Given the description of an element on the screen output the (x, y) to click on. 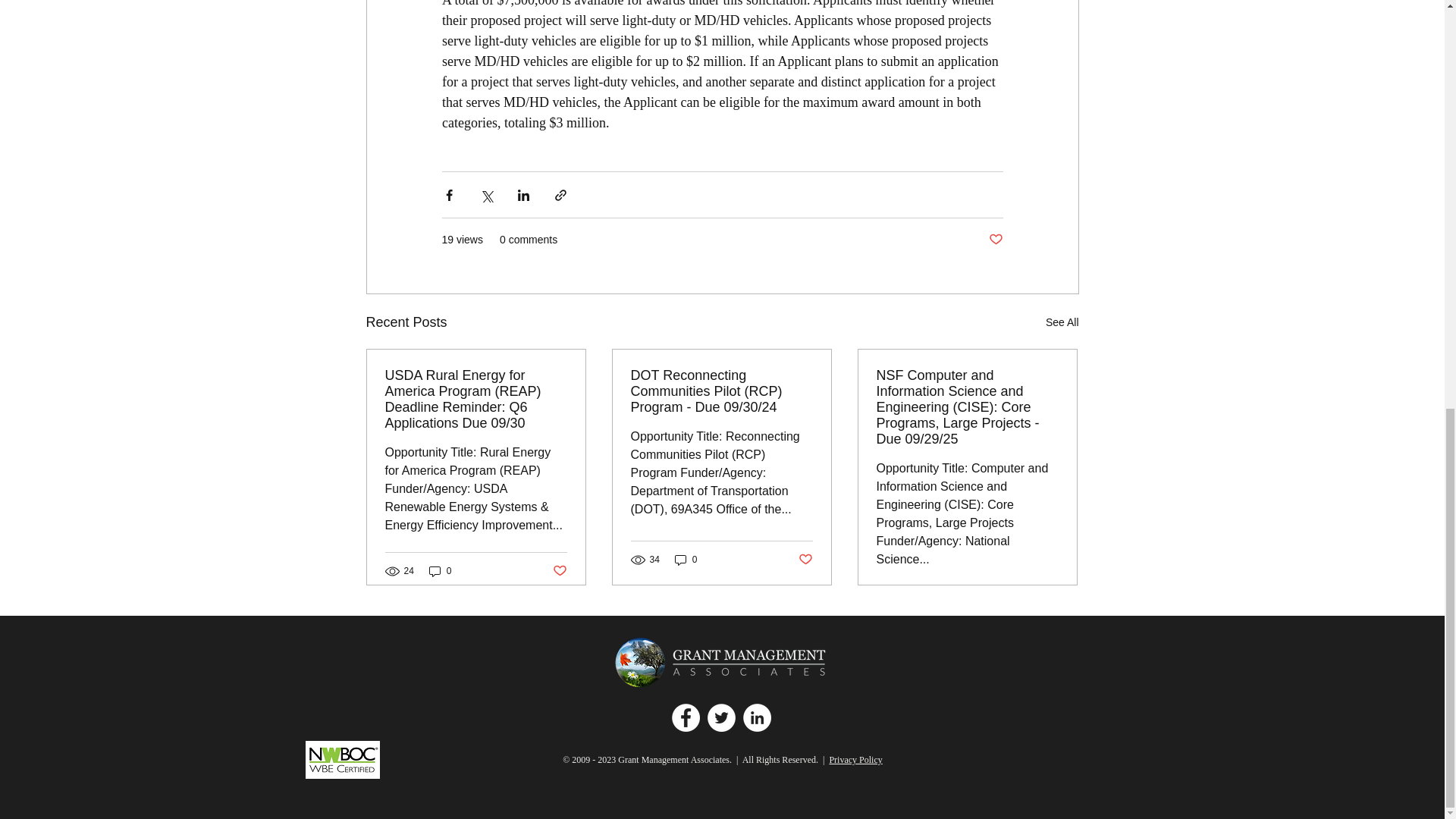
0 (685, 559)
Post not marked as liked (558, 570)
Post not marked as liked (804, 560)
0 (440, 571)
Privacy Policy (855, 759)
See All (1061, 322)
Post not marked as liked (995, 239)
